Given the description of an element on the screen output the (x, y) to click on. 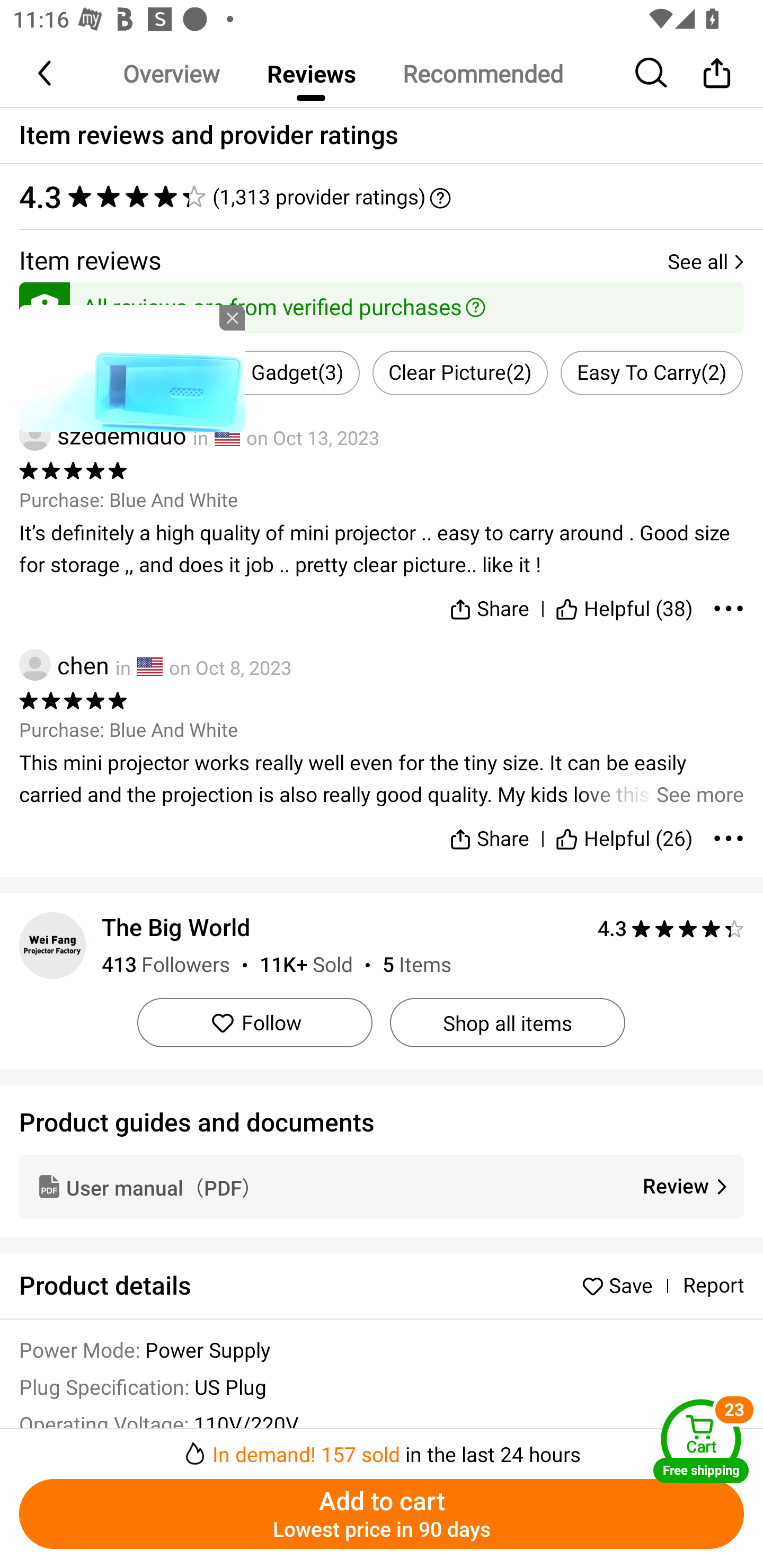
Overview (171, 72)
Reviews (311, 72)
Recommended (482, 72)
Back (46, 72)
Share (716, 72)
4.3 ‪(1,313 provider ratings) (381, 196)
All reviews are from verified purchases  (381, 303)
tronplayer_view (131, 368)
Clear Picture(2) (459, 373)
Easy To Carry(2) (651, 373)
szedemiduo (102, 434)
  Share (489, 605)
  Helpful (38) (624, 605)
chen (64, 664)
See more (381, 779)
  Share (489, 830)
  Helpful (26) (624, 830)
  Follow (254, 1022)
Shop all items (506, 1022)
User manual（PDF） Review (381, 1186)
Report (712, 1285)
 Save (621, 1285)
Cart Free shipping Cart (701, 1440)
￼￼In demand! 157 sold in the last 24 hours (381, 1448)
Add to cart Lowest price in 90 days (381, 1513)
